Given the description of an element on the screen output the (x, y) to click on. 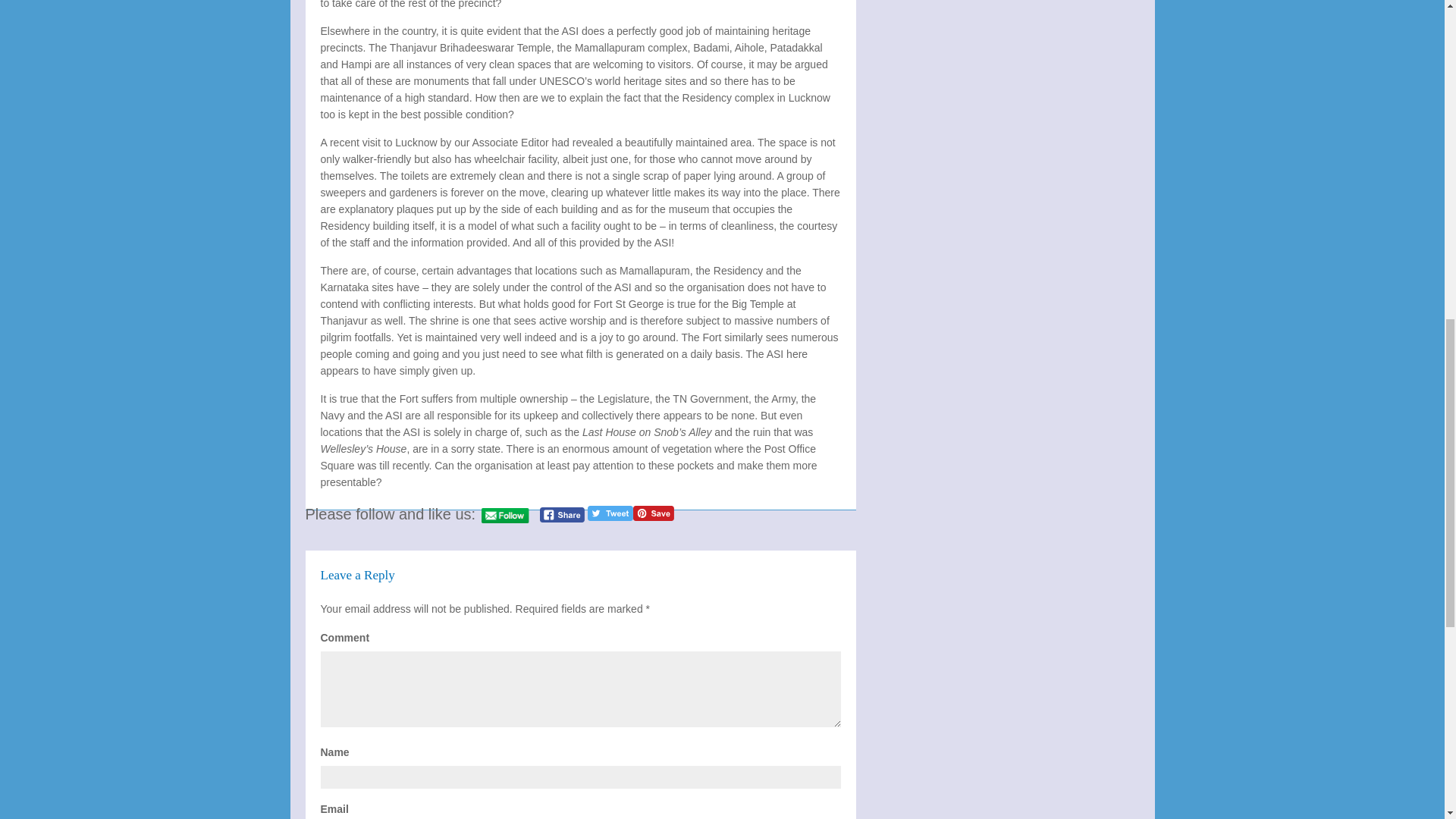
Pin Share (653, 513)
Facebook Share (562, 514)
Tweet (610, 513)
